Given the description of an element on the screen output the (x, y) to click on. 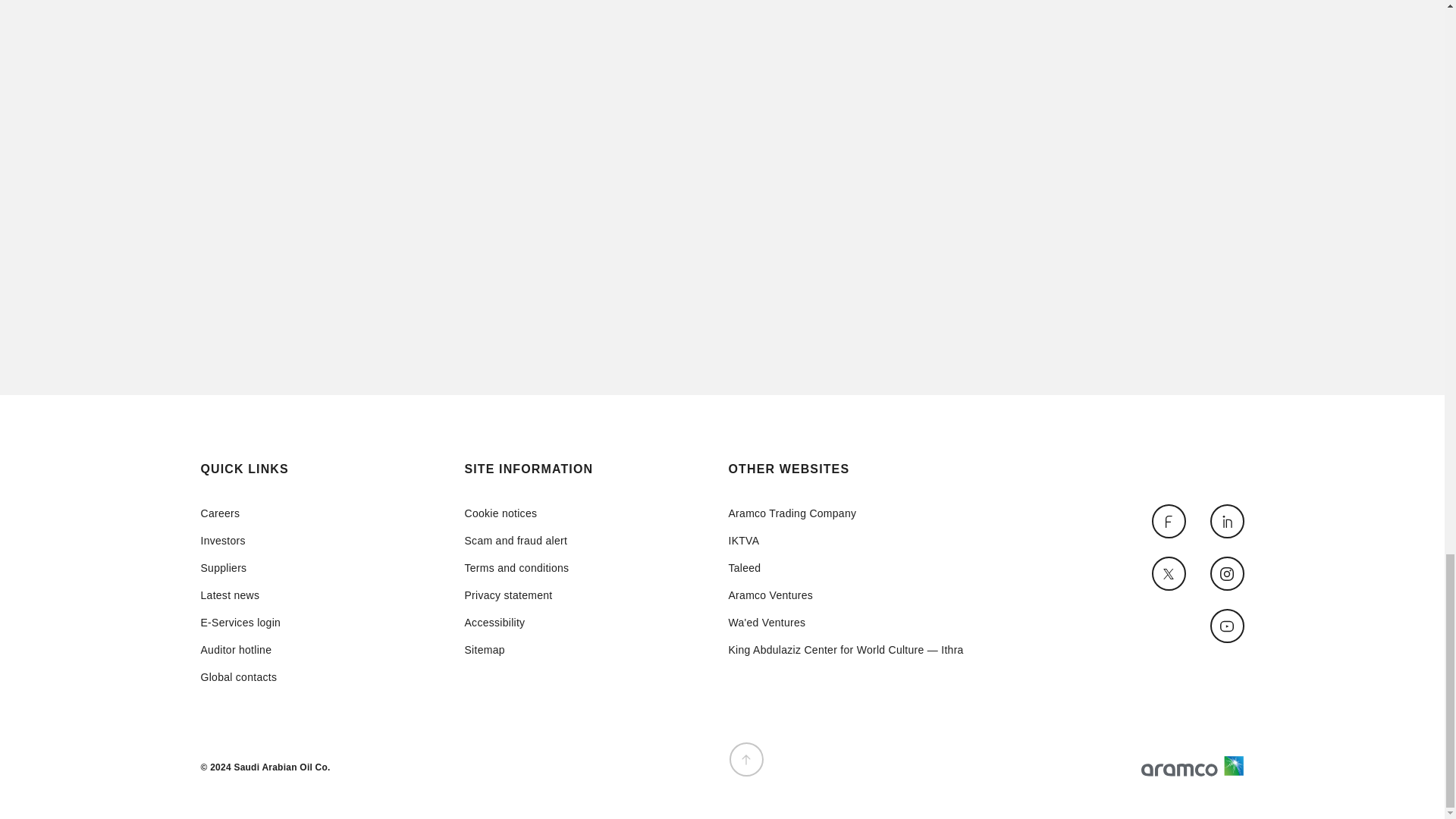
Aramco (1191, 765)
Careers (240, 513)
Cookie notices (516, 513)
Aramco Ventures (845, 594)
Investors (240, 540)
Suppliers (240, 567)
Latest news (240, 594)
Wa'ed Ventures (845, 622)
Aramco Trading Company (845, 513)
Scam and fraud alert (516, 540)
Terms and conditions (516, 567)
Global contacts (240, 676)
Sitemap (516, 649)
E-Services login (240, 622)
IKTVA (845, 540)
